Given the description of an element on the screen output the (x, y) to click on. 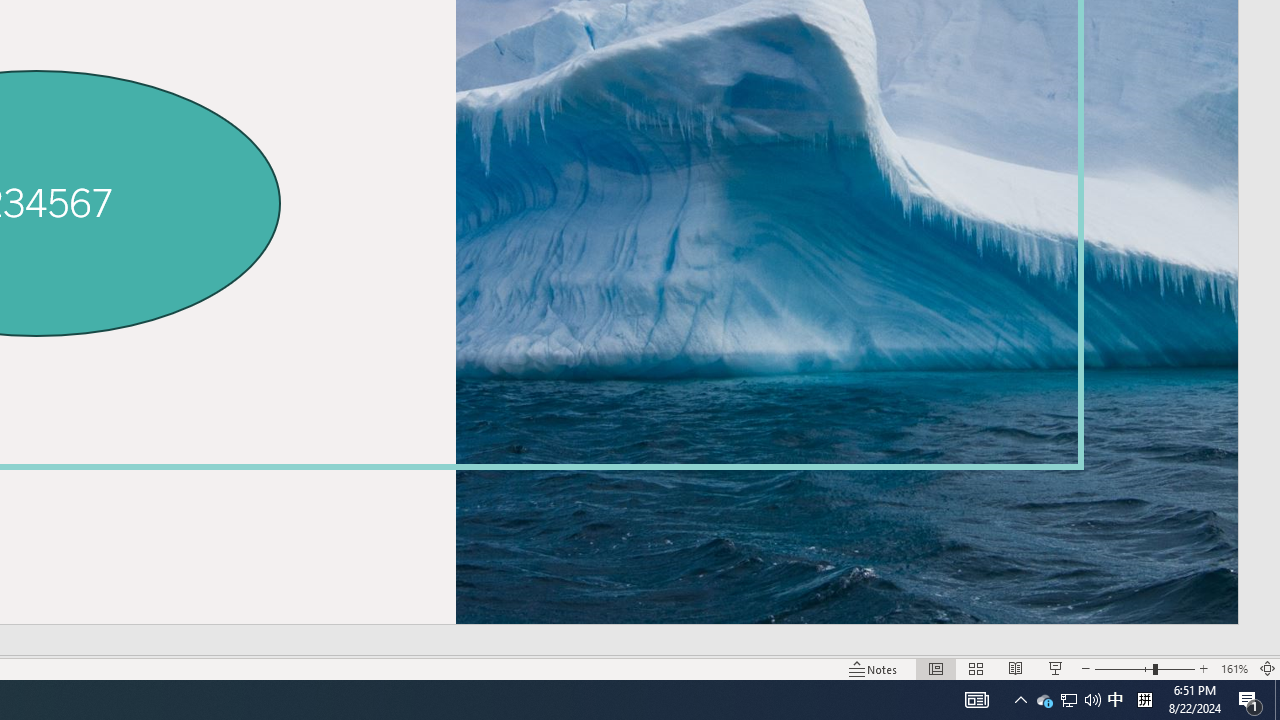
Zoom 161% (1234, 668)
